Given the description of an element on the screen output the (x, y) to click on. 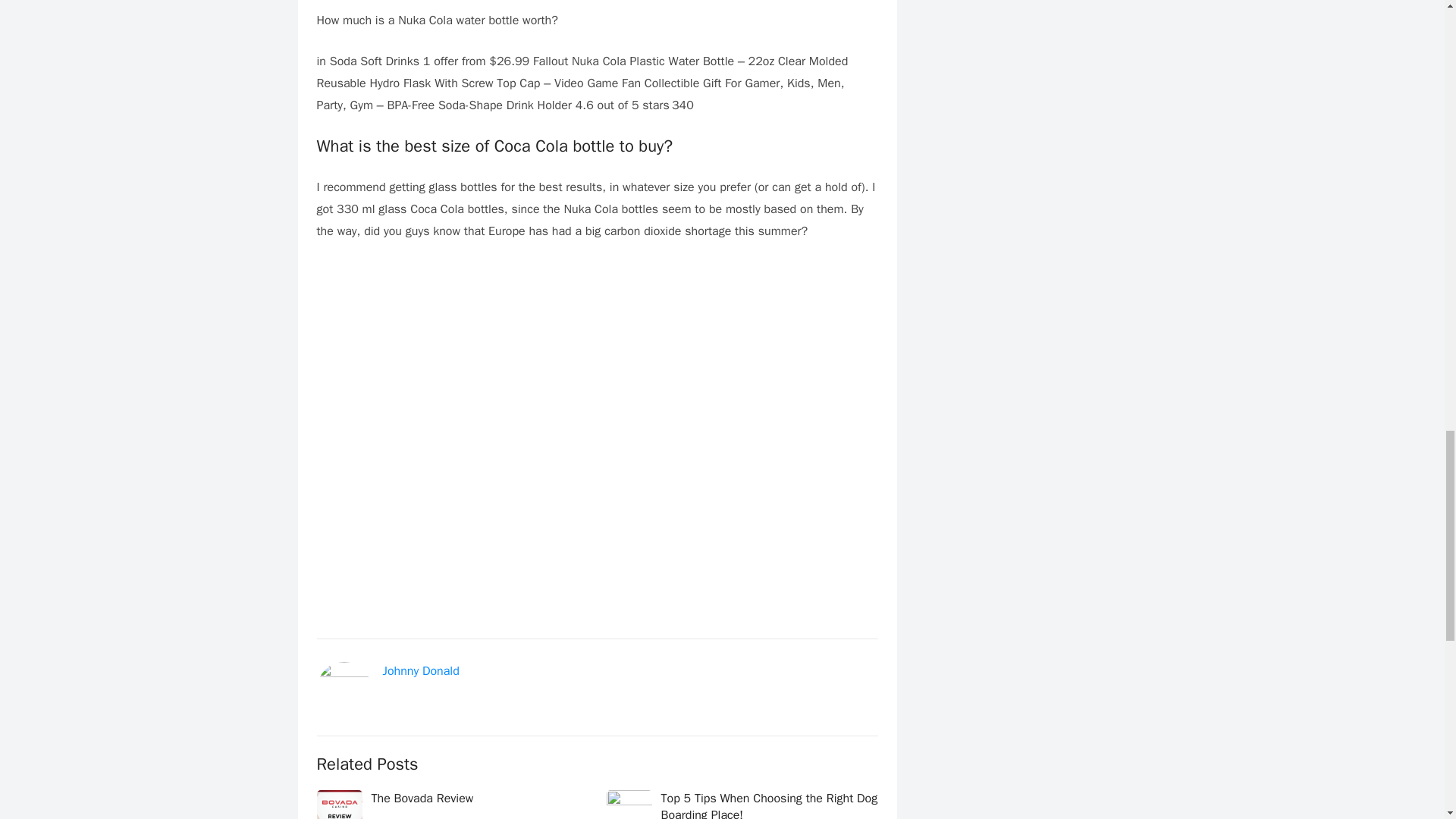
Top 5 Tips When Choosing the Right Dog Boarding Place! (769, 805)
Johnny Donald (419, 670)
The Bovada Review (422, 798)
